Given the description of an element on the screen output the (x, y) to click on. 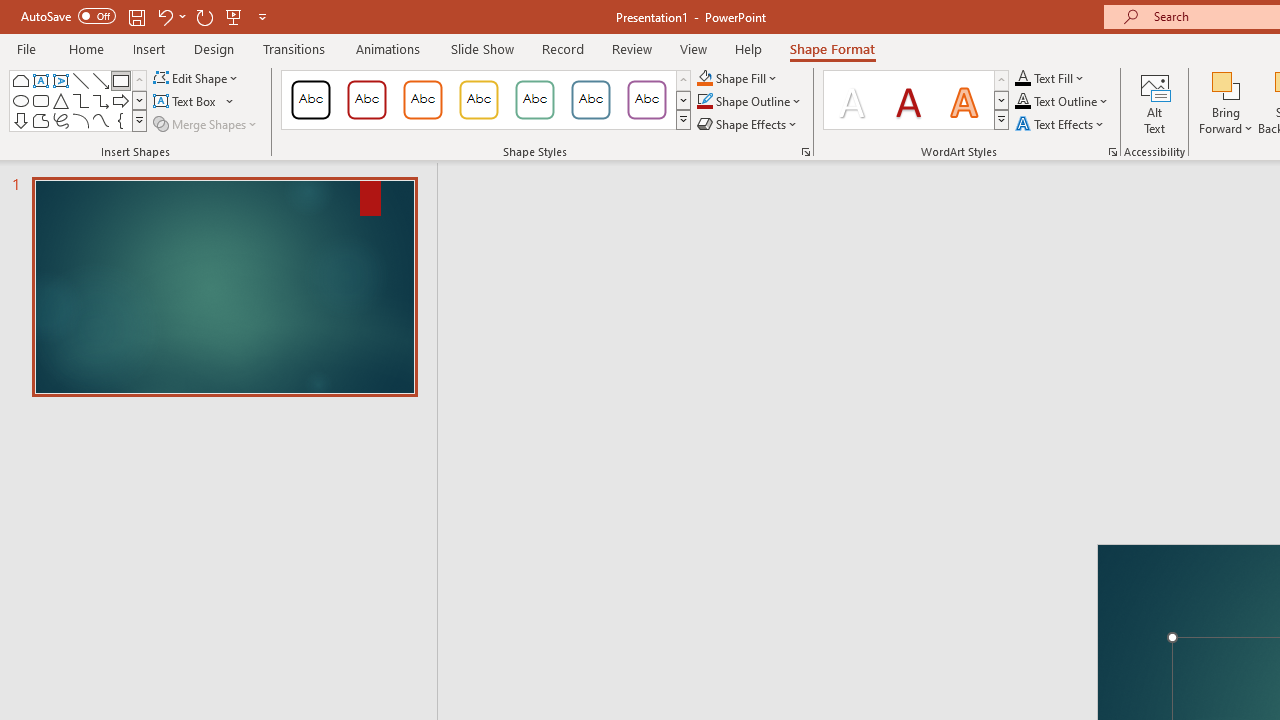
Colored Outline - Orange, Accent 2 (422, 100)
Bring Forward (1225, 84)
AutomationID: ShapesInsertGallery (78, 100)
Left Brace (120, 120)
Oval (20, 100)
Fill: Dark Red, Accent color 1; Shadow (908, 100)
Fill: White, Text color 1; Shadow (852, 100)
Rectangle: Top Corners Snipped (20, 80)
Format Text Effects... (1112, 151)
Row Down (1001, 100)
Text Outline RGB(0, 0, 0) (1023, 101)
Redo (204, 15)
AutomationID: ShapeStylesGallery (486, 99)
Arrow: Down (20, 120)
